Given the description of an element on the screen output the (x, y) to click on. 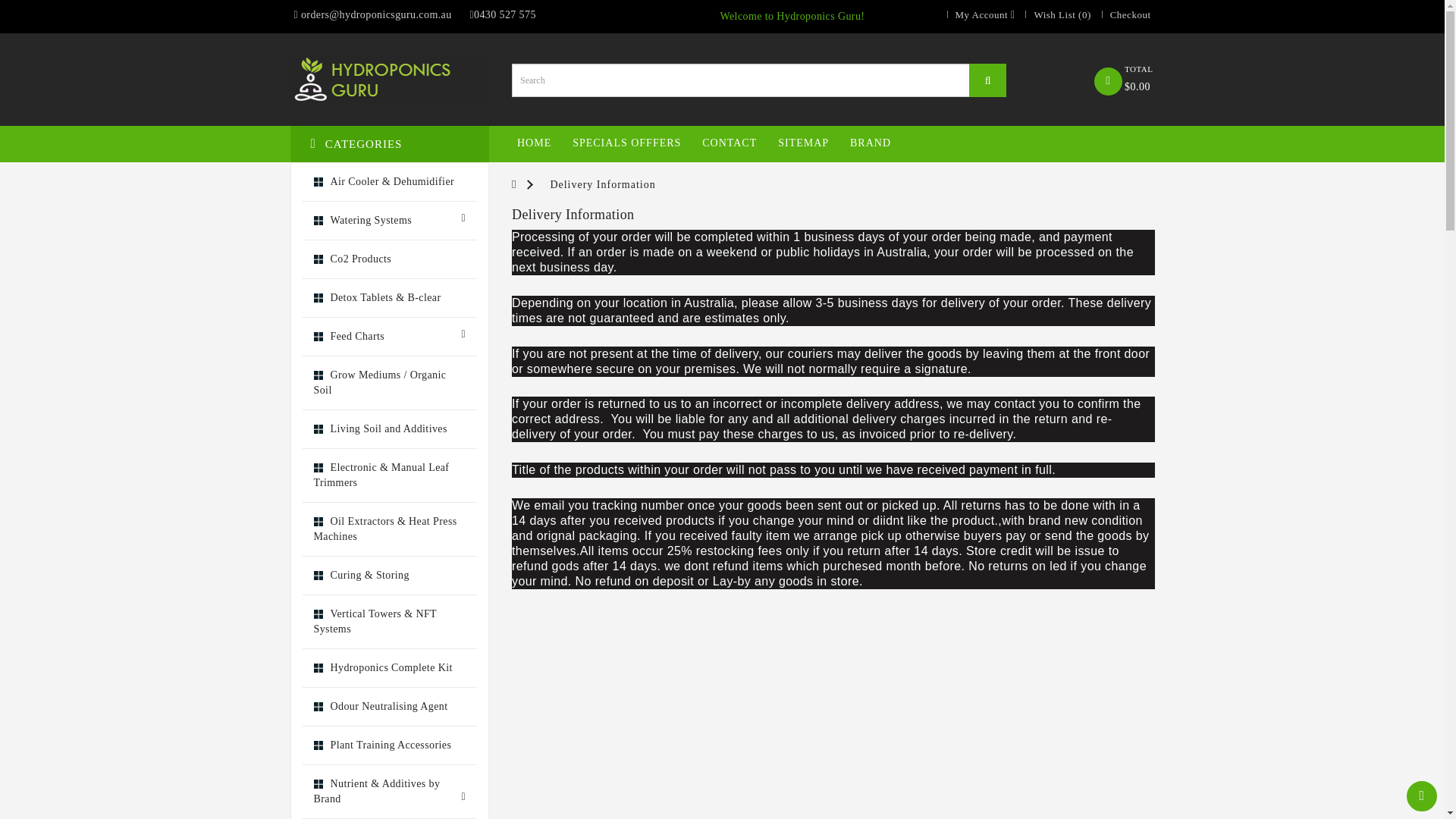
Checkout (1122, 14)
HOME (533, 142)
BRAND (870, 142)
Checkout (1122, 14)
My Account (976, 14)
Scroll to Top (1421, 796)
SITEMAP (802, 142)
My Account (976, 14)
Hydroponics Guru (388, 79)
CONTACT (729, 142)
